Given the description of an element on the screen output the (x, y) to click on. 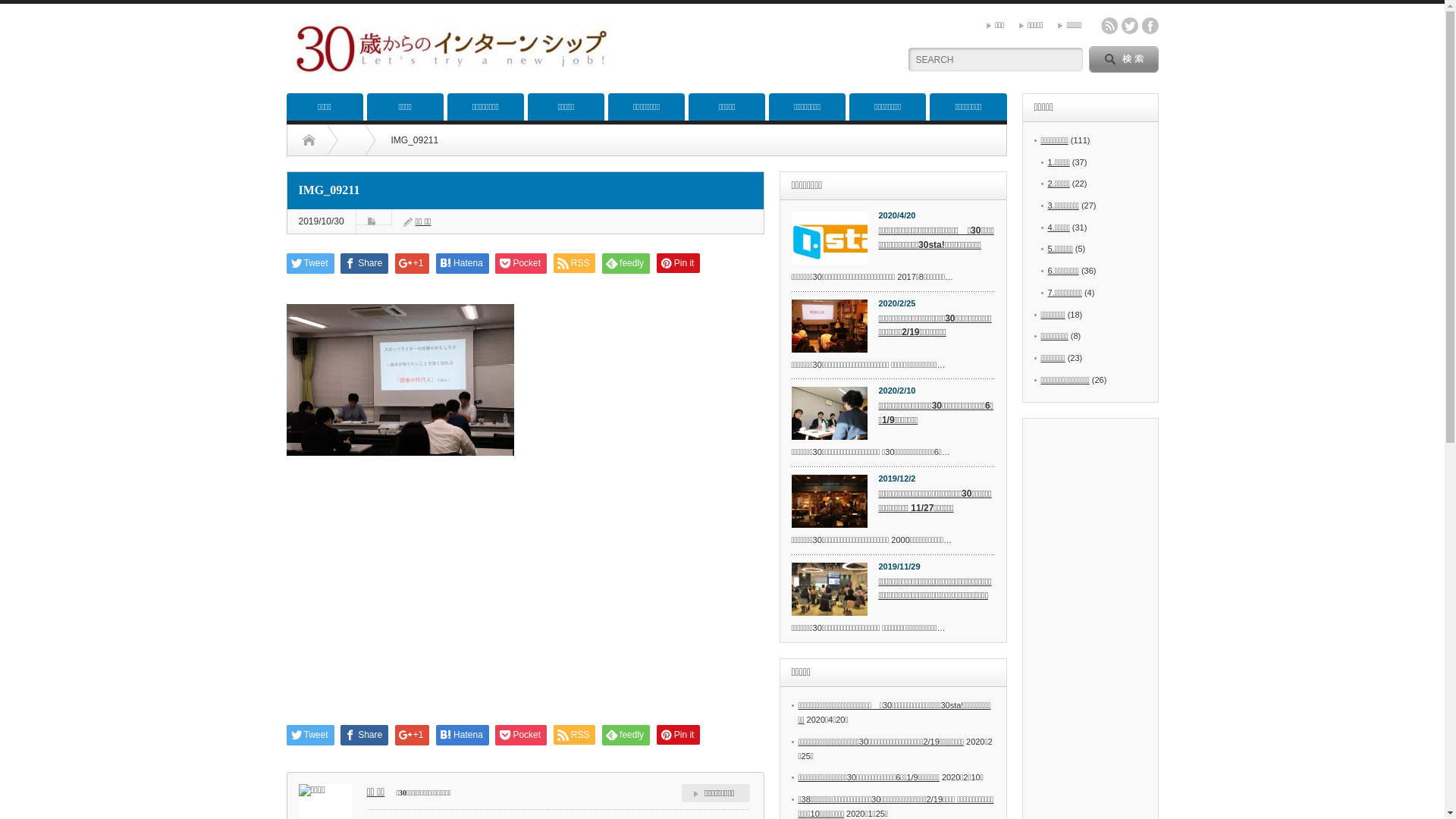
facebook Element type: text (1150, 25)
Share Element type: text (364, 734)
feedly Element type: text (625, 263)
+1 Element type: text (412, 734)
feedly Element type: text (625, 734)
Pin it Element type: text (678, 263)
Hatena Element type: text (462, 263)
+1 Element type: text (412, 263)
rss Element type: text (1109, 25)
RSS Element type: text (574, 734)
Tweet Element type: text (310, 263)
Advertisement Element type: hover (525, 599)
Pin it Element type: text (678, 734)
Pocket Element type: text (520, 263)
Hatena Element type: text (462, 734)
Share Element type: text (364, 263)
Pocket Element type: text (520, 734)
RSS Element type: text (574, 263)
twitter Element type: text (1128, 25)
Advertisement Element type: hover (764, 45)
SEARCH Element type: text (1123, 59)
Home Element type: text (307, 140)
Tweet Element type: text (310, 734)
